Given the description of an element on the screen output the (x, y) to click on. 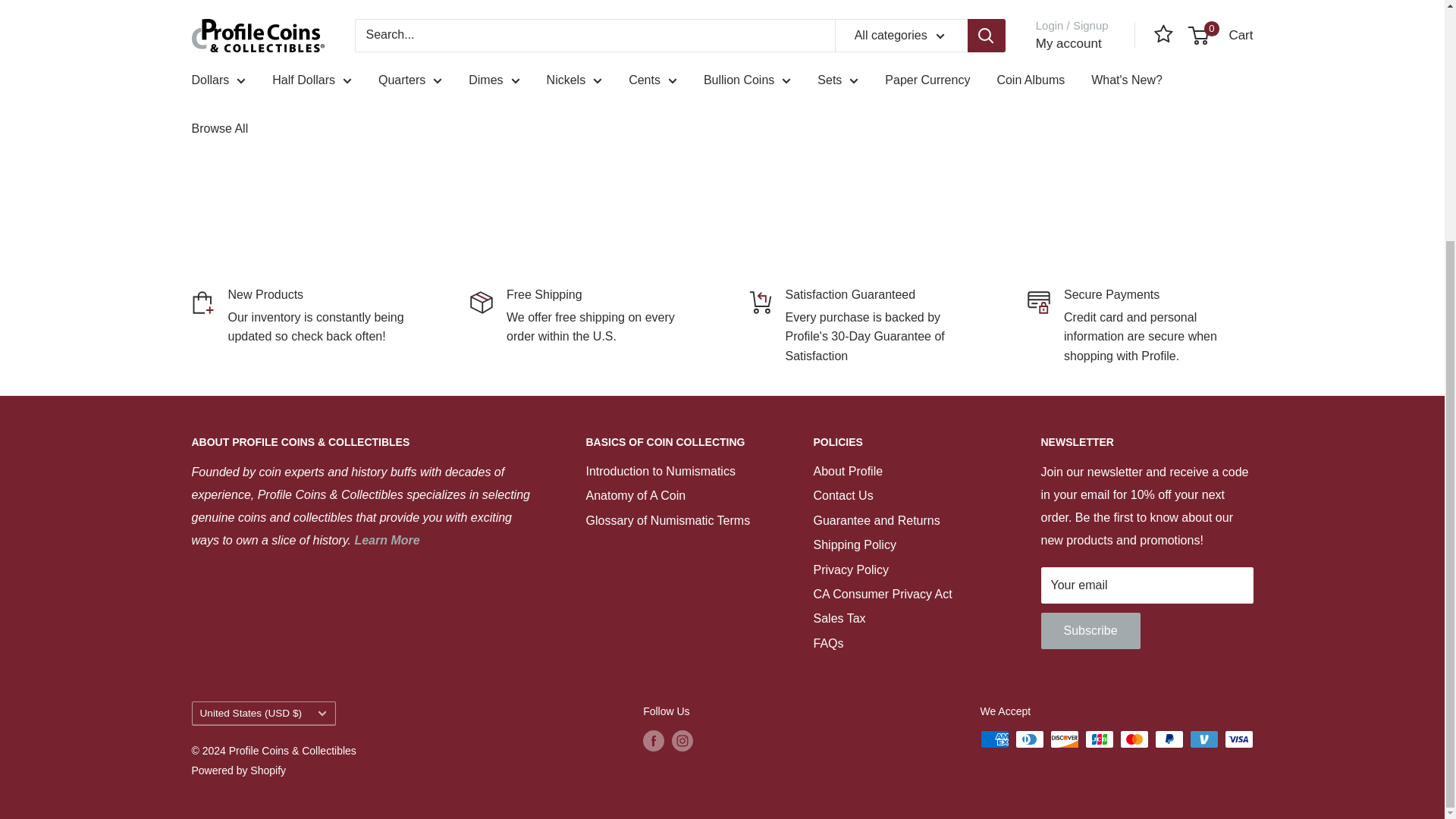
About Profile Coins (386, 540)
